Given the description of an element on the screen output the (x, y) to click on. 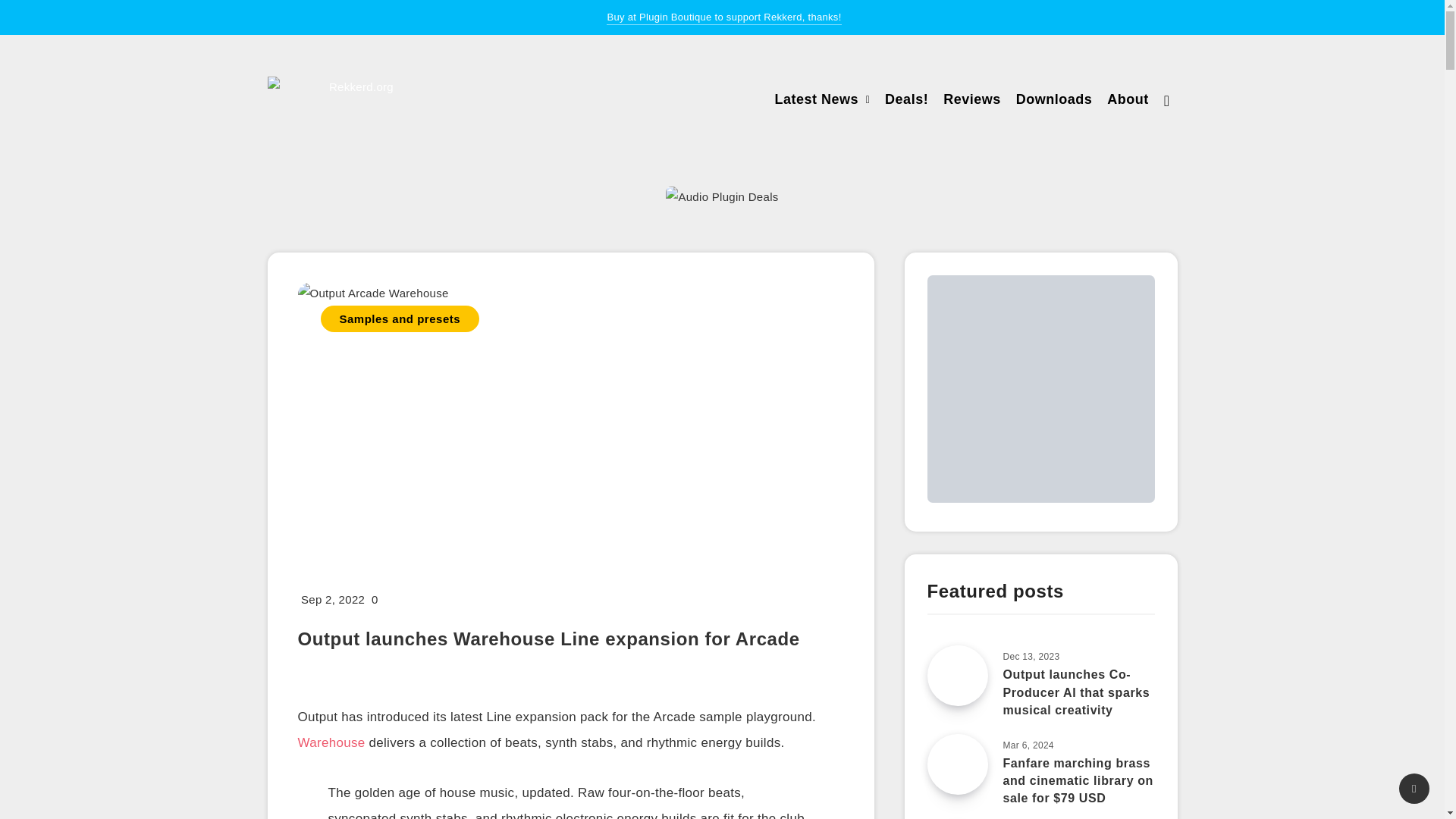
Latest News (816, 101)
Samples and presets (399, 318)
Reviews (972, 101)
Downloads (1054, 101)
Deals! (906, 101)
Buy at Plugin Boutique to support Rekkerd, thanks! (724, 17)
About (1127, 101)
Warehouse (331, 744)
